Given the description of an element on the screen output the (x, y) to click on. 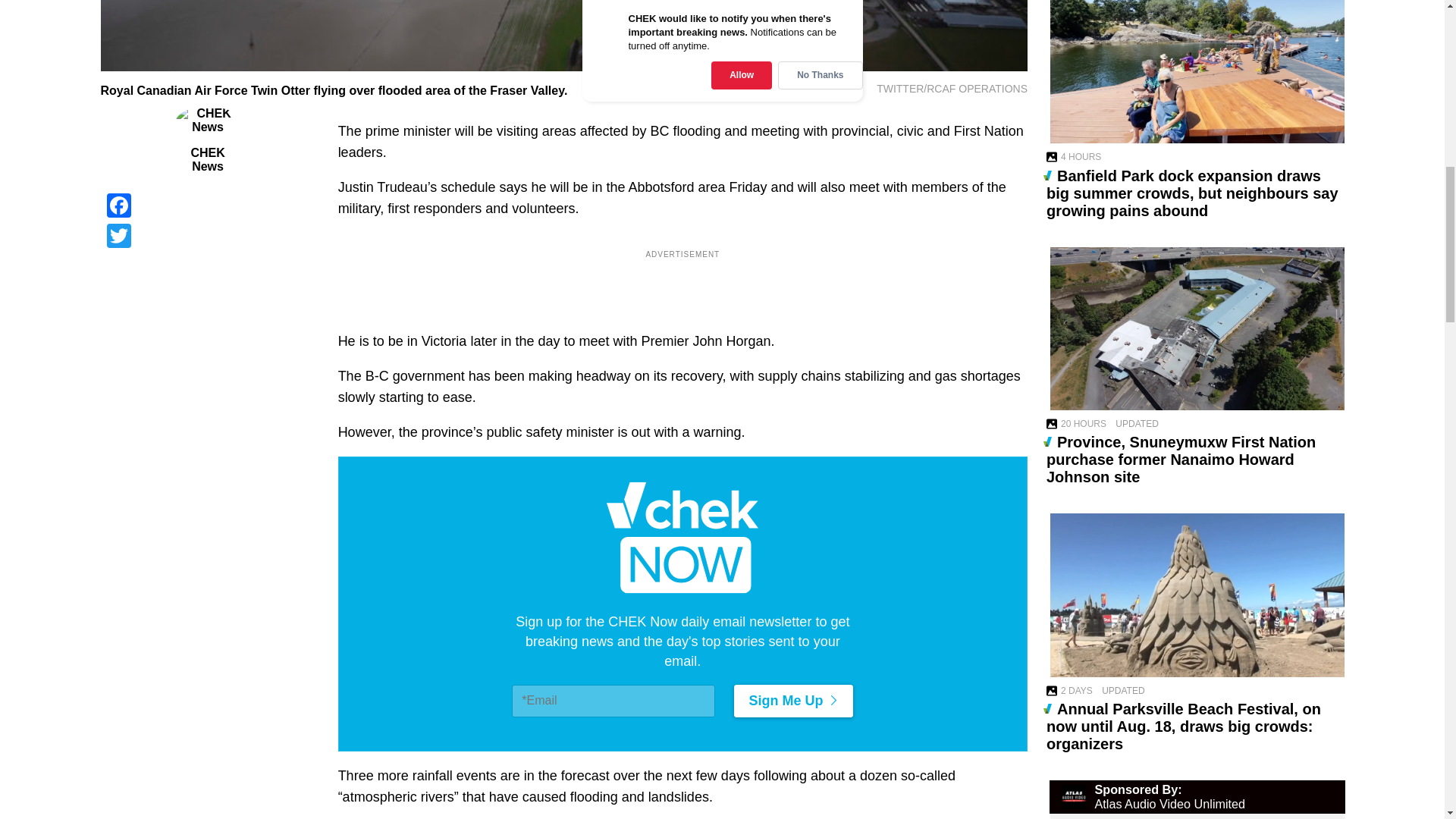
Facebook (207, 205)
Twitter (207, 235)
